Given the description of an element on the screen output the (x, y) to click on. 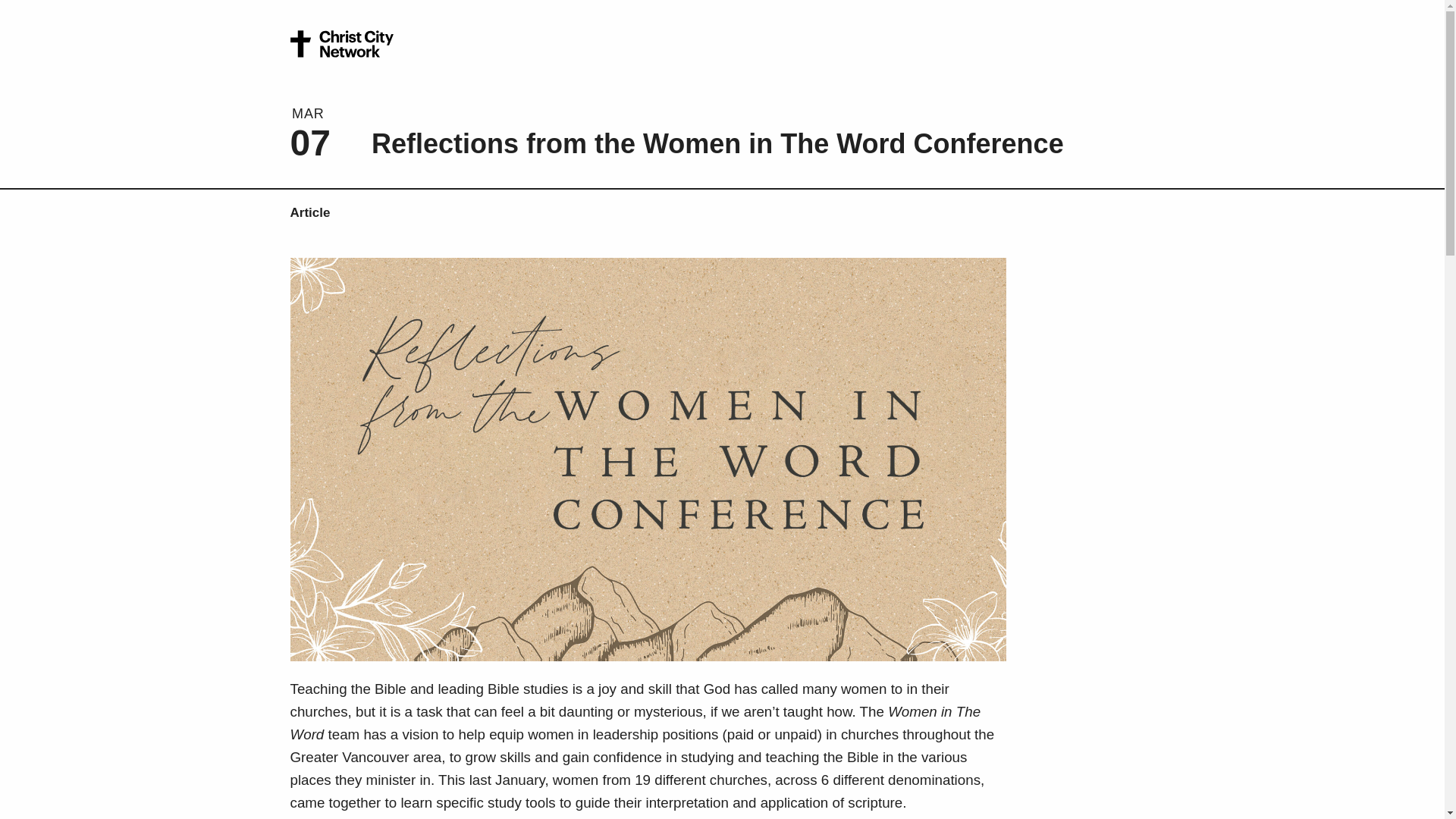
A network of neighbourhood churches (341, 45)
